Given the description of an element on the screen output the (x, y) to click on. 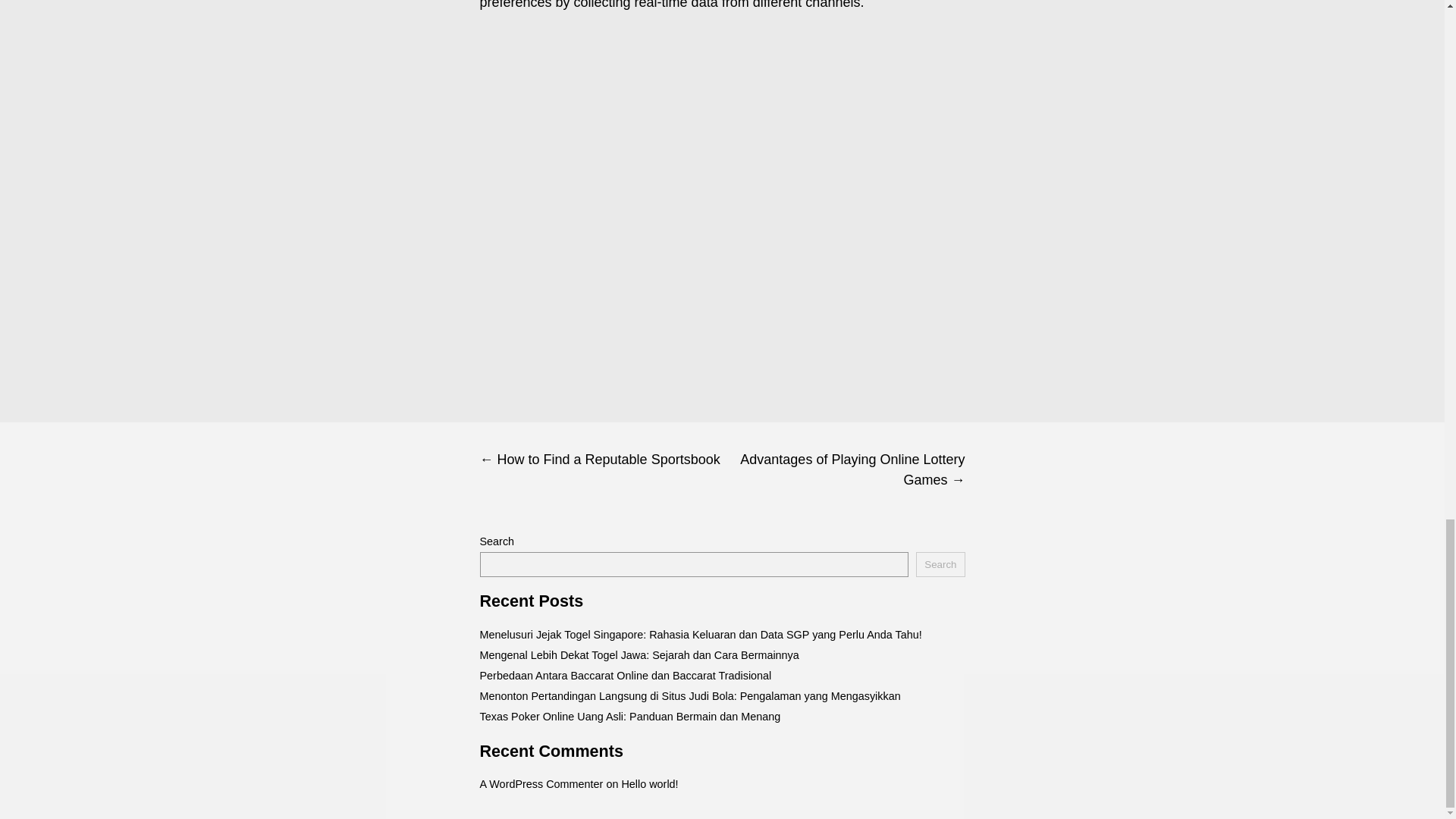
Advantages of Playing Online Lottery Games (842, 469)
Texas Poker Online Uang Asli: Panduan Bermain dan Menang (629, 716)
How to Find a Reputable Sportsbook (600, 459)
Perbedaan Antara Baccarat Online dan Baccarat Tradisional (625, 675)
A WordPress Commenter (540, 784)
Hello world! (649, 784)
Mengenal Lebih Dekat Togel Jawa: Sejarah dan Cara Bermainnya (638, 654)
Search (939, 564)
